Given the description of an element on the screen output the (x, y) to click on. 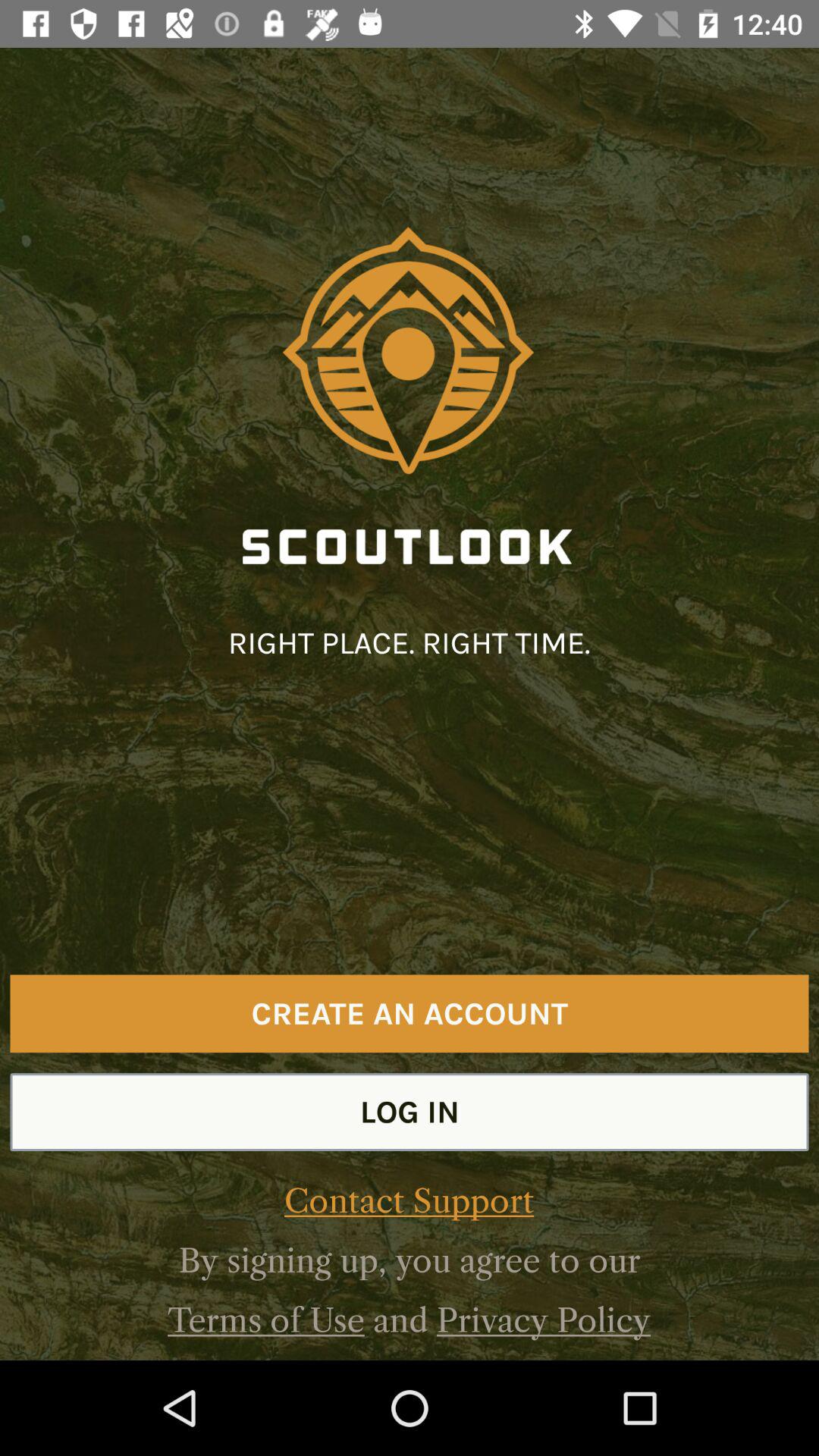
turn on privacy policy item (543, 1320)
